Given the description of an element on the screen output the (x, y) to click on. 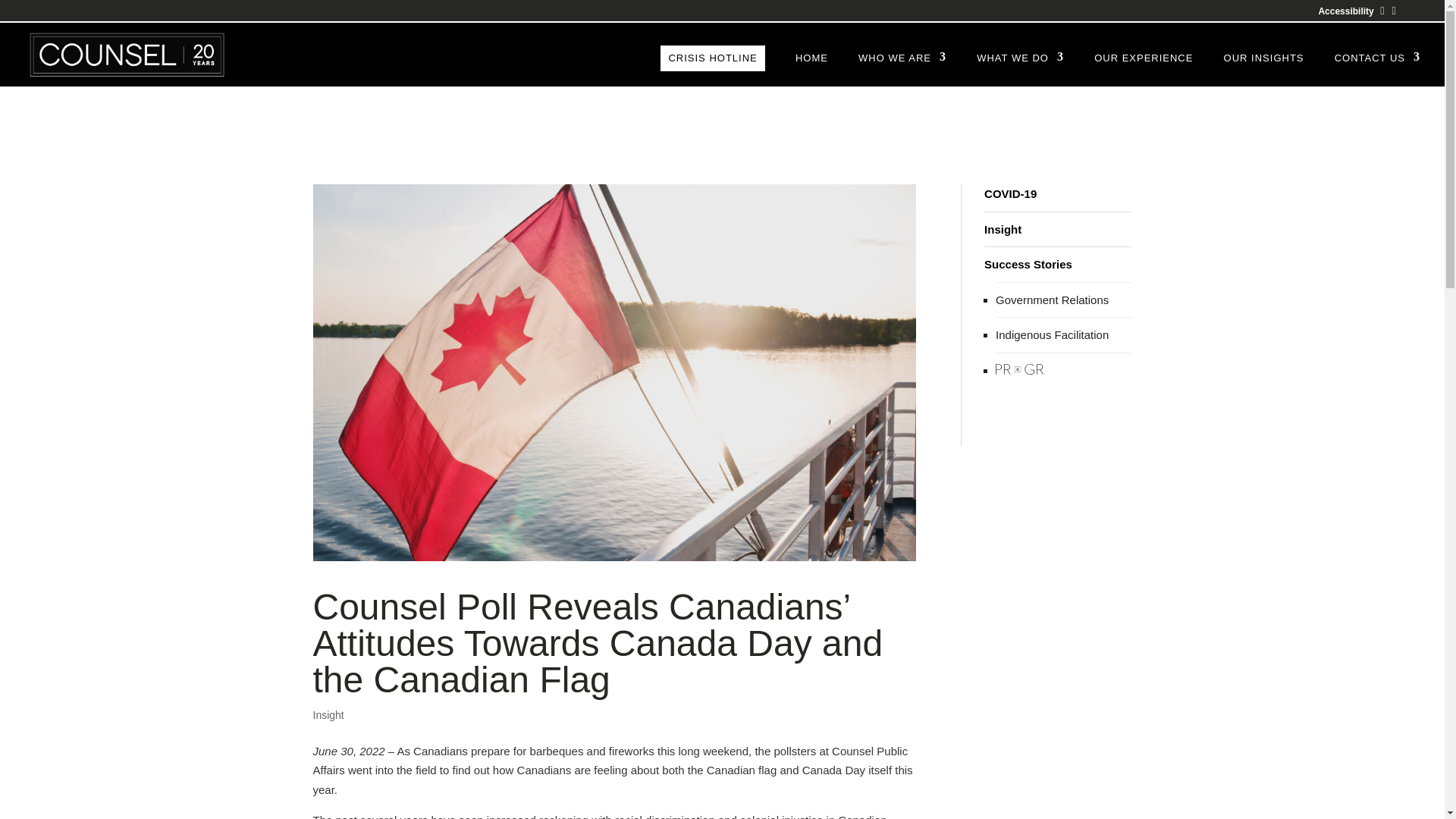
CONTACT US (1378, 69)
WHO WE ARE (902, 69)
OUR INSIGHTS (1264, 69)
OUR EXPERIENCE (1143, 69)
WHAT WE DO (1020, 69)
Success Stories (1027, 264)
Government Relations (1051, 298)
Accessibility (1345, 10)
Insight (1003, 228)
Indigenous Facilitation (1051, 334)
